Given the description of an element on the screen output the (x, y) to click on. 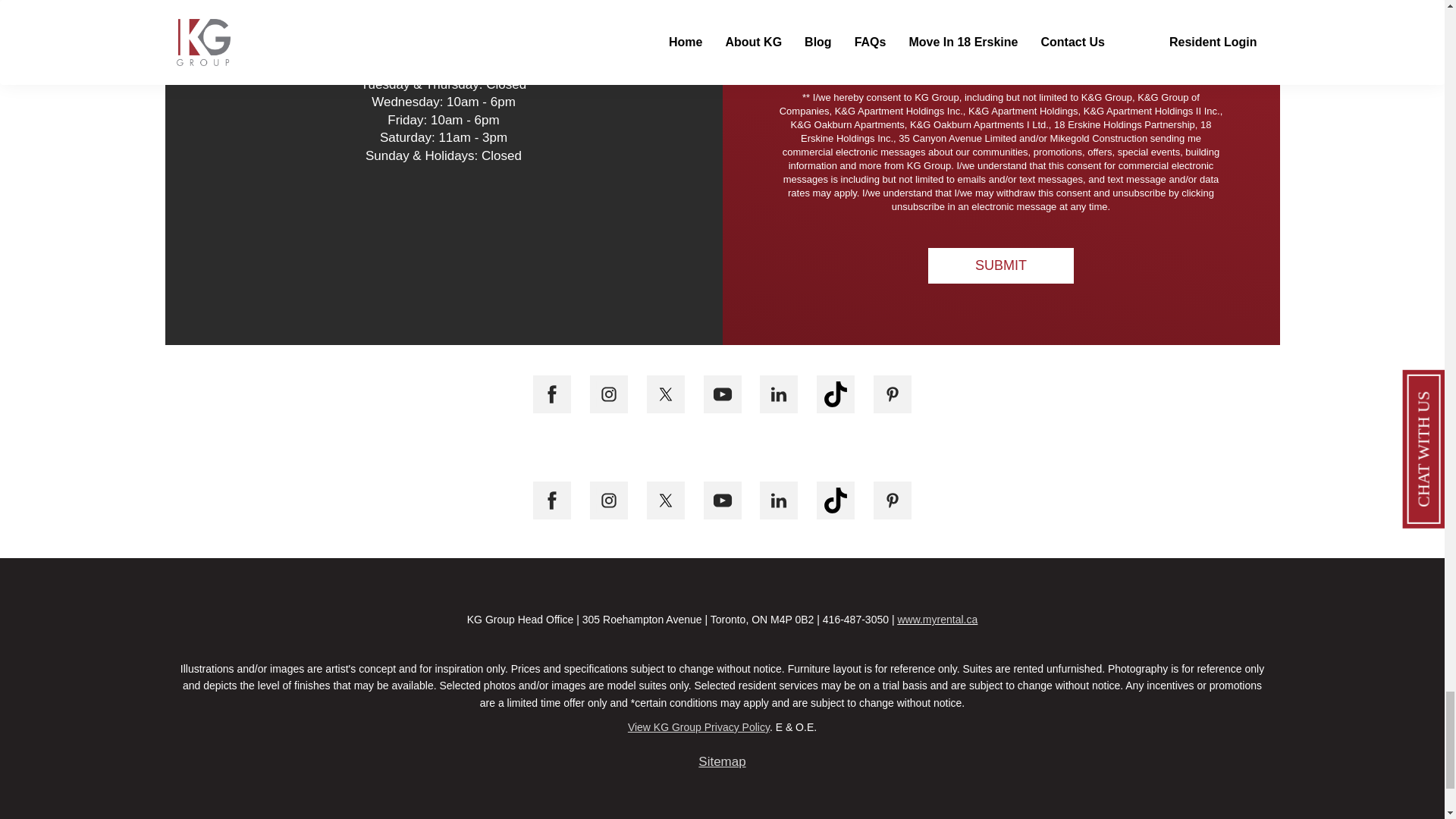
1 (782, 71)
